Given the description of an element on the screen output the (x, y) to click on. 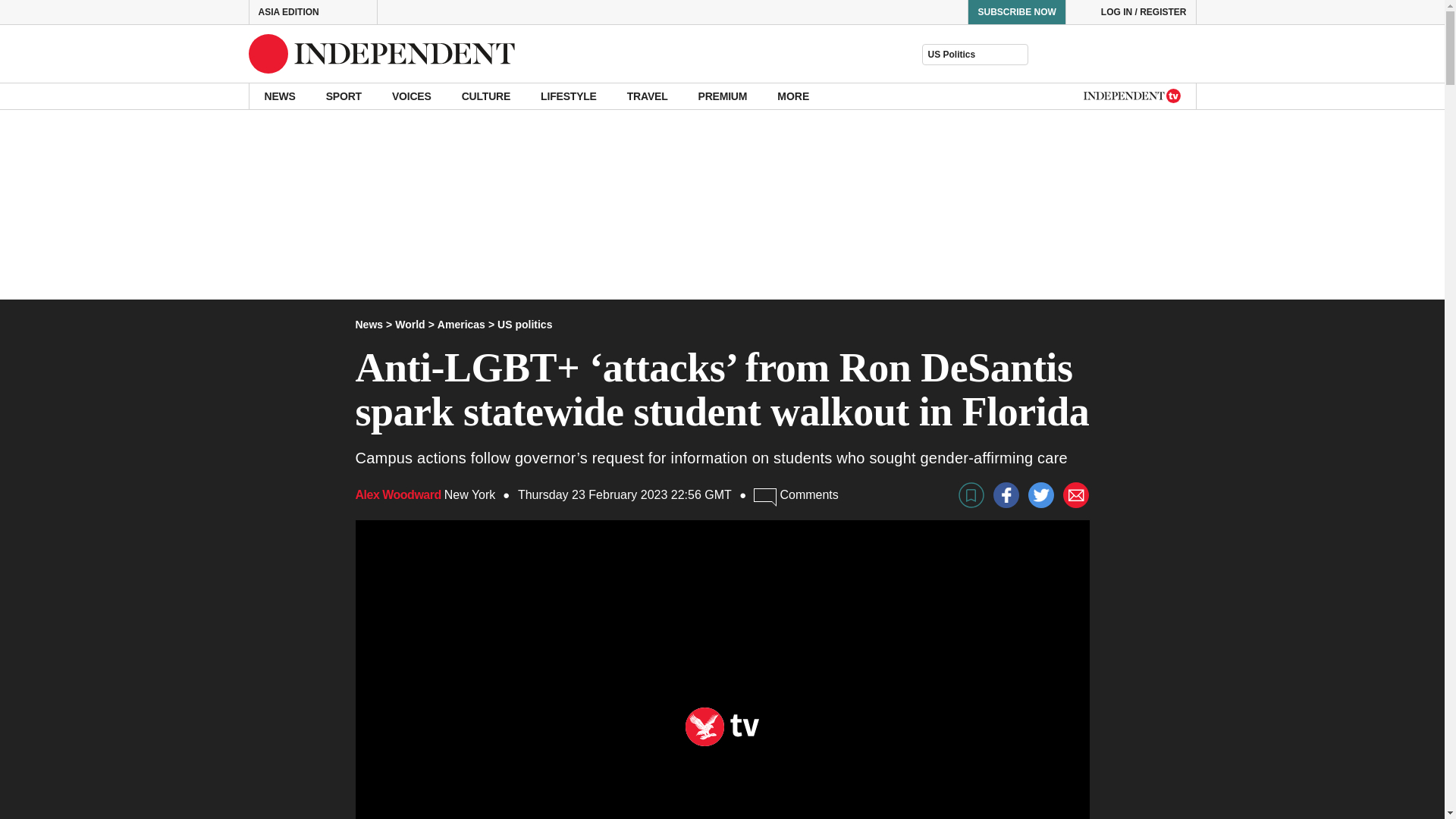
SUBSCRIBE NOW (1016, 12)
Independent (381, 53)
NEWS (279, 95)
US Politics (974, 54)
SPORT (344, 95)
bookmark (971, 494)
VOICES (411, 95)
